Given the description of an element on the screen output the (x, y) to click on. 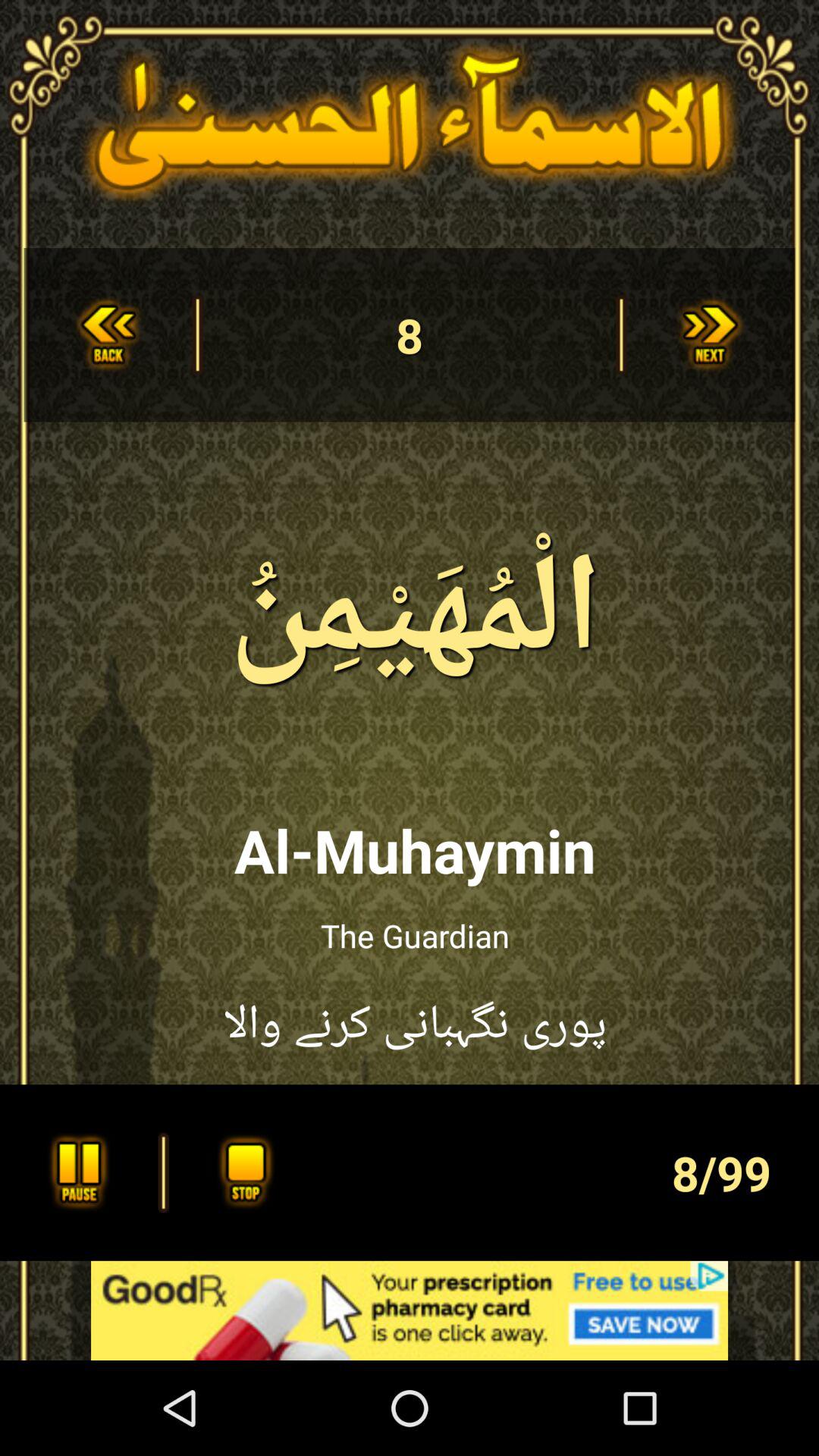
go next (710, 334)
